Given the description of an element on the screen output the (x, y) to click on. 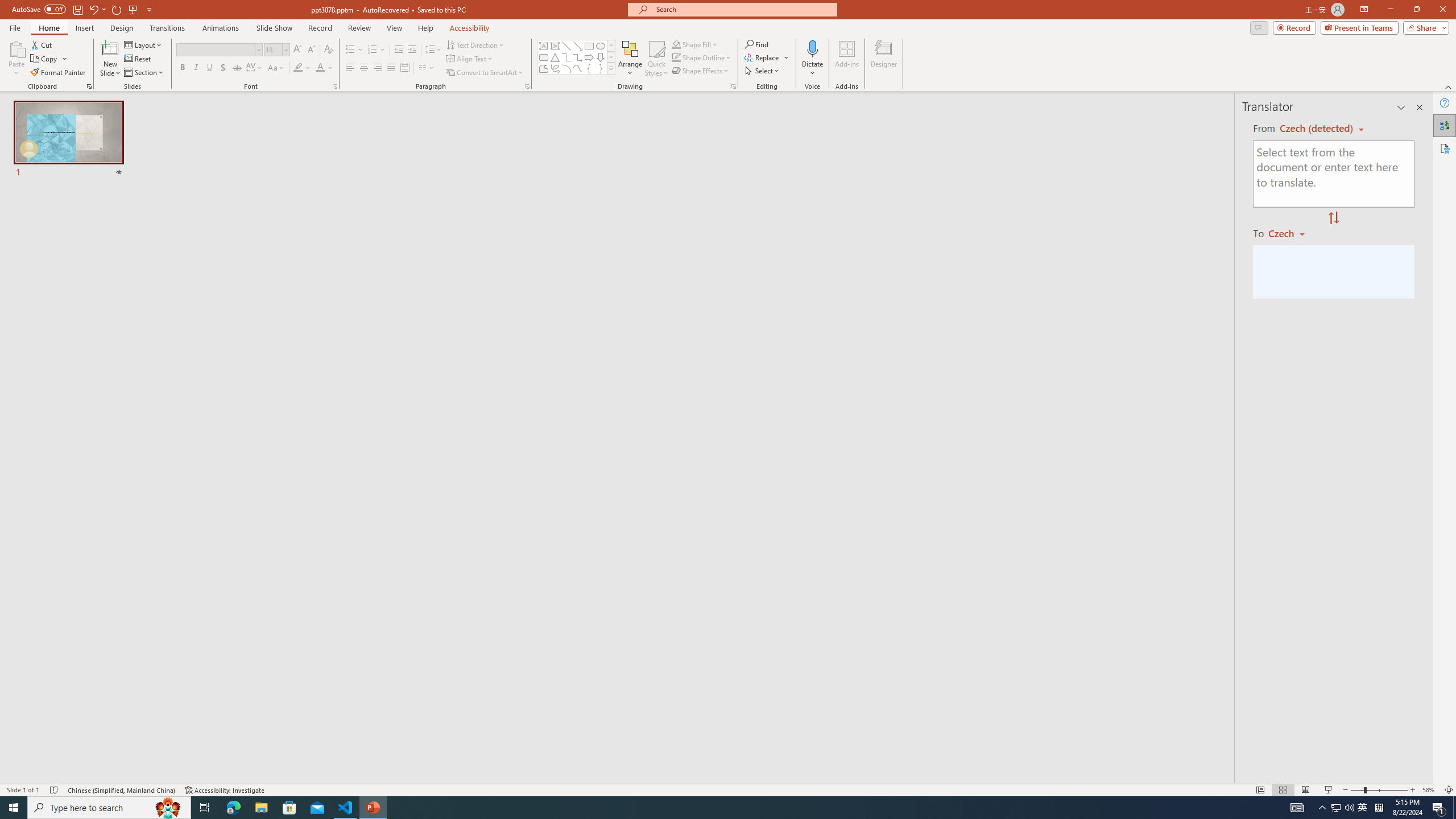
Shape Outline Green, Accent 1 (675, 56)
Czech (detected) (1317, 128)
Shape Outline (701, 56)
